Given the description of an element on the screen output the (x, y) to click on. 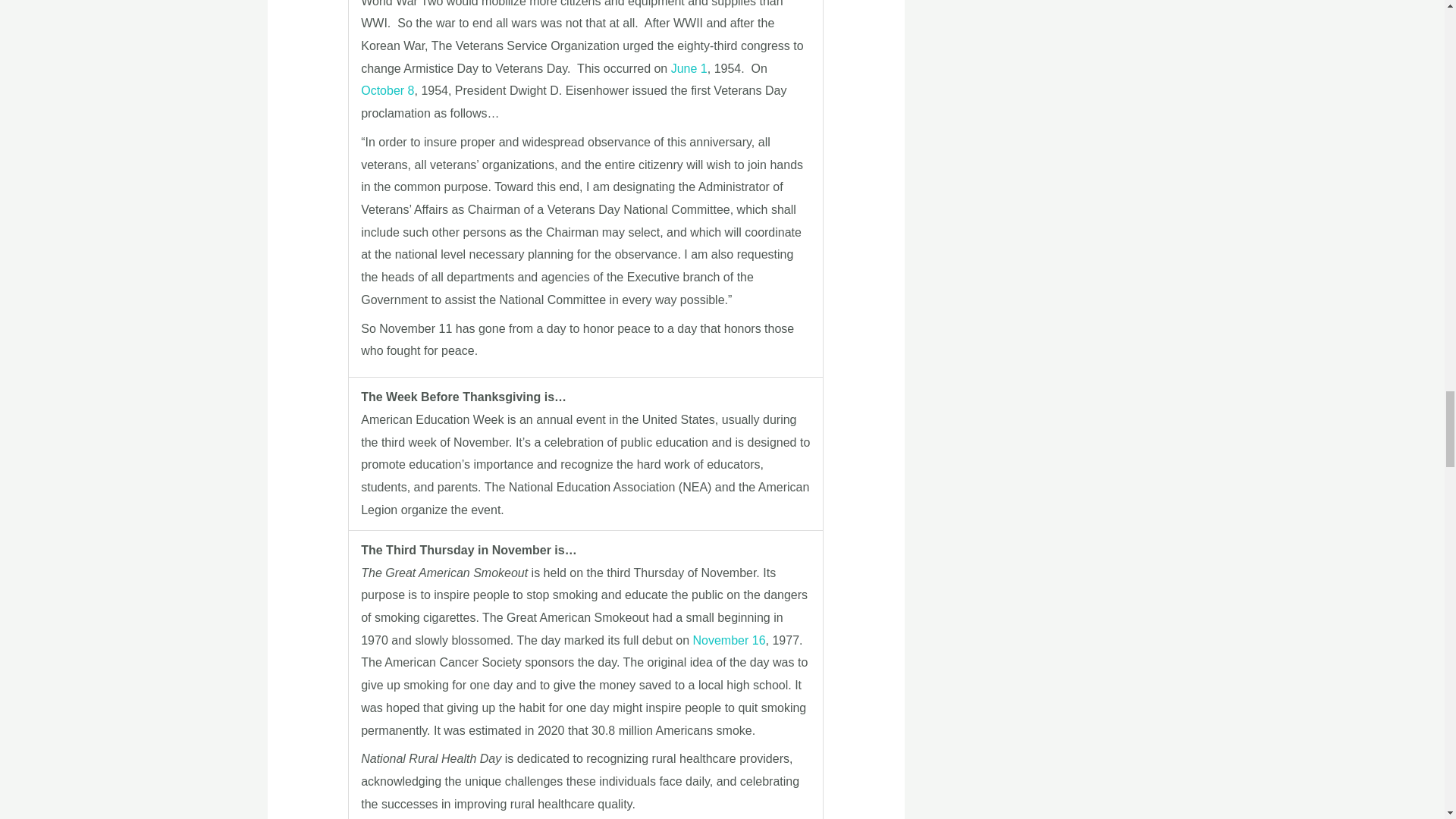
November 16 (729, 640)
October 8 (387, 90)
June 1 (689, 68)
